Given the description of an element on the screen output the (x, y) to click on. 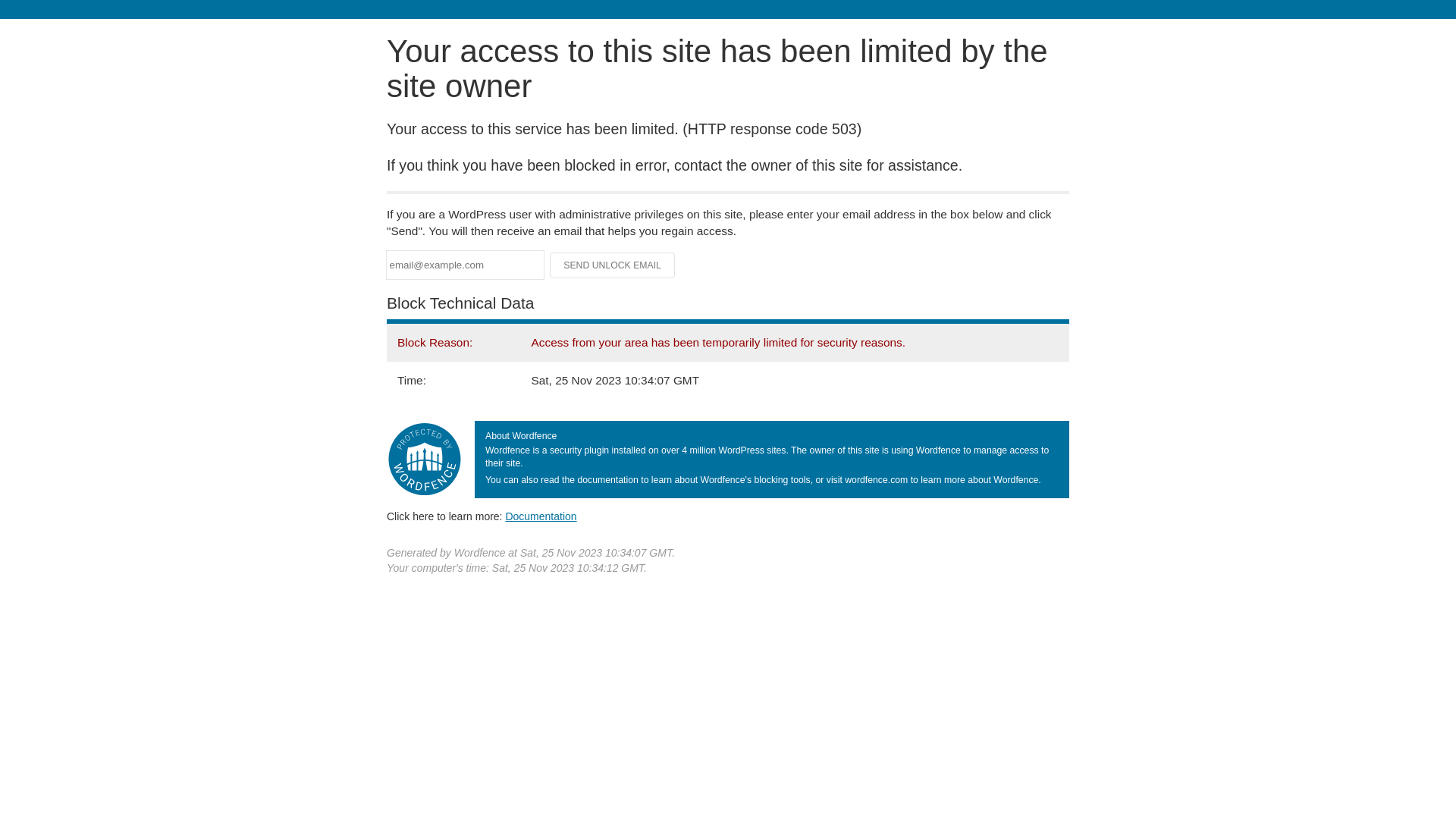
Send Unlock Email Element type: text (612, 265)
Documentation Element type: text (540, 516)
